Given the description of an element on the screen output the (x, y) to click on. 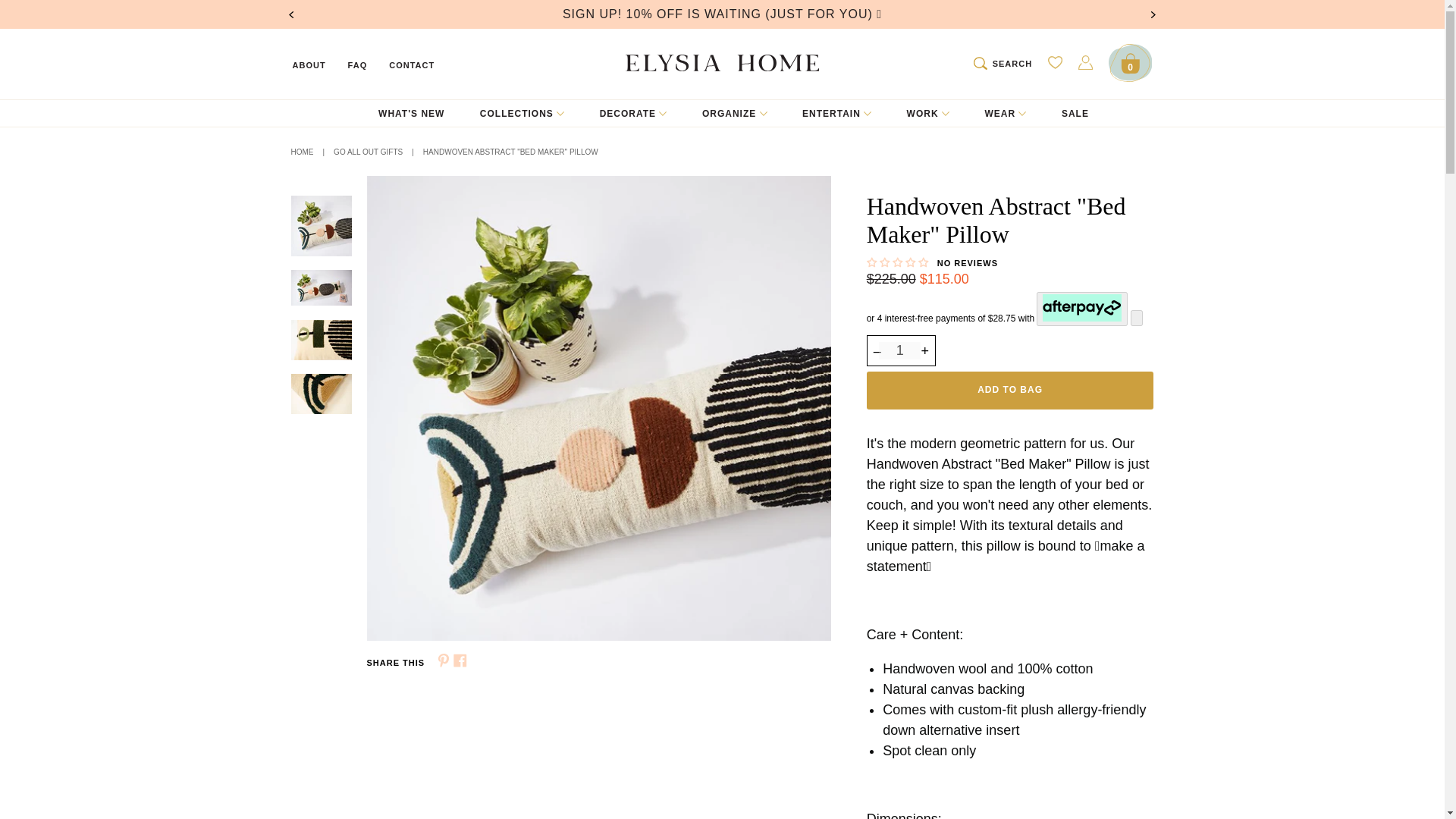
WHAT'S NEW (411, 113)
CONTACT (410, 64)
ABOUT (309, 64)
FAQ (357, 64)
SEARCH (1003, 62)
1 (899, 350)
Home (302, 152)
